Given the description of an element on the screen output the (x, y) to click on. 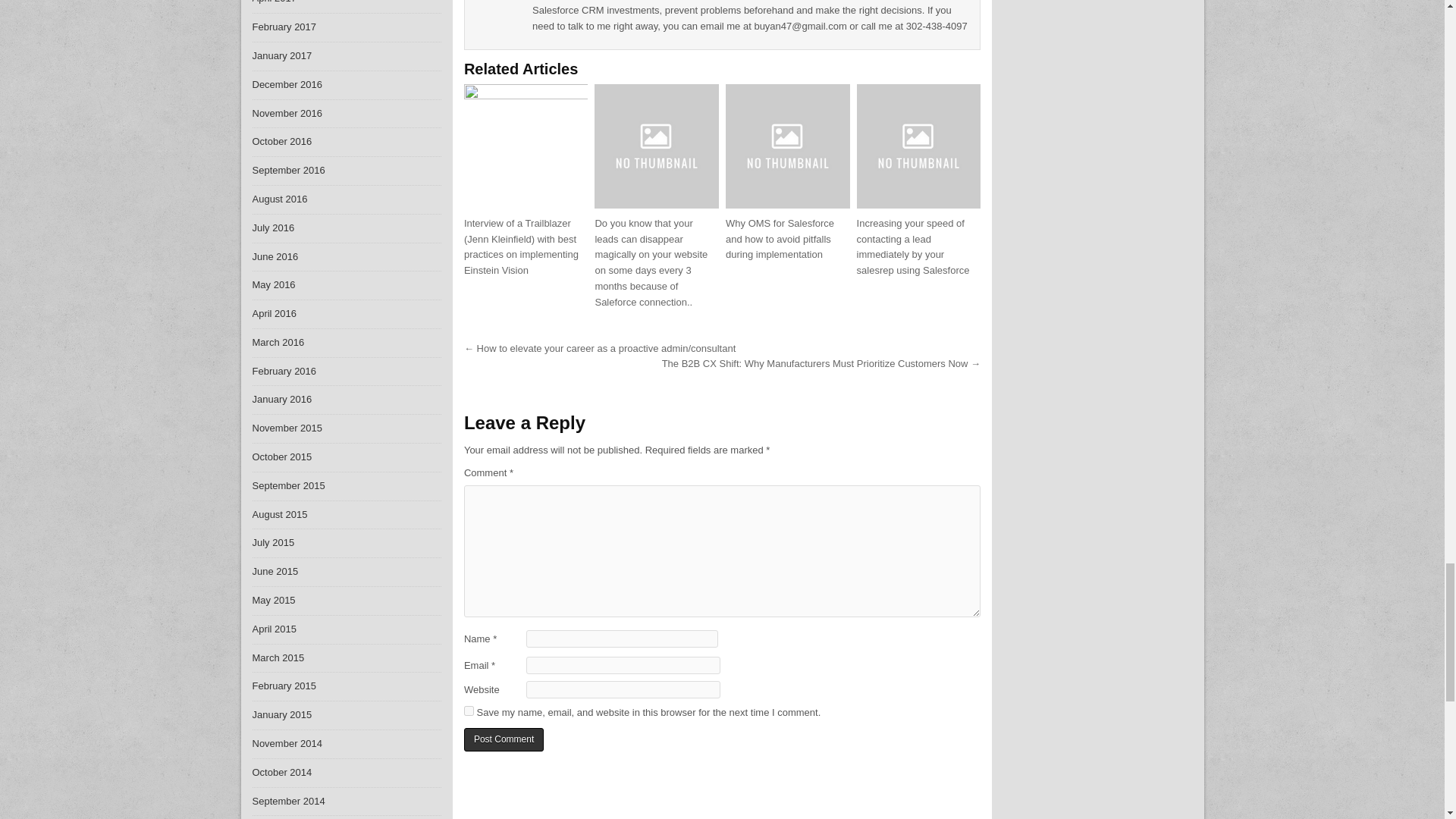
Post Comment (503, 739)
yes (469, 710)
